Given the description of an element on the screen output the (x, y) to click on. 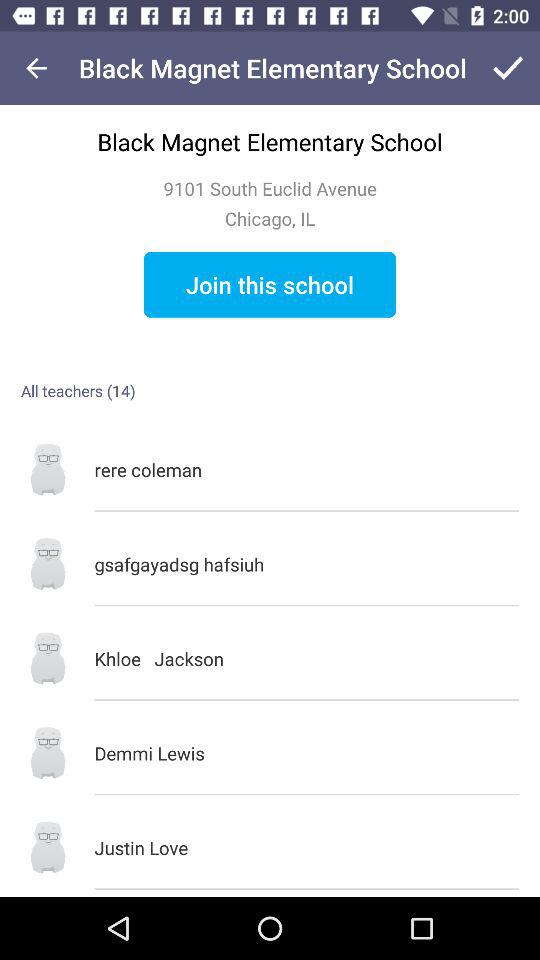
choose item below chicago, il (270, 284)
